Given the description of an element on the screen output the (x, y) to click on. 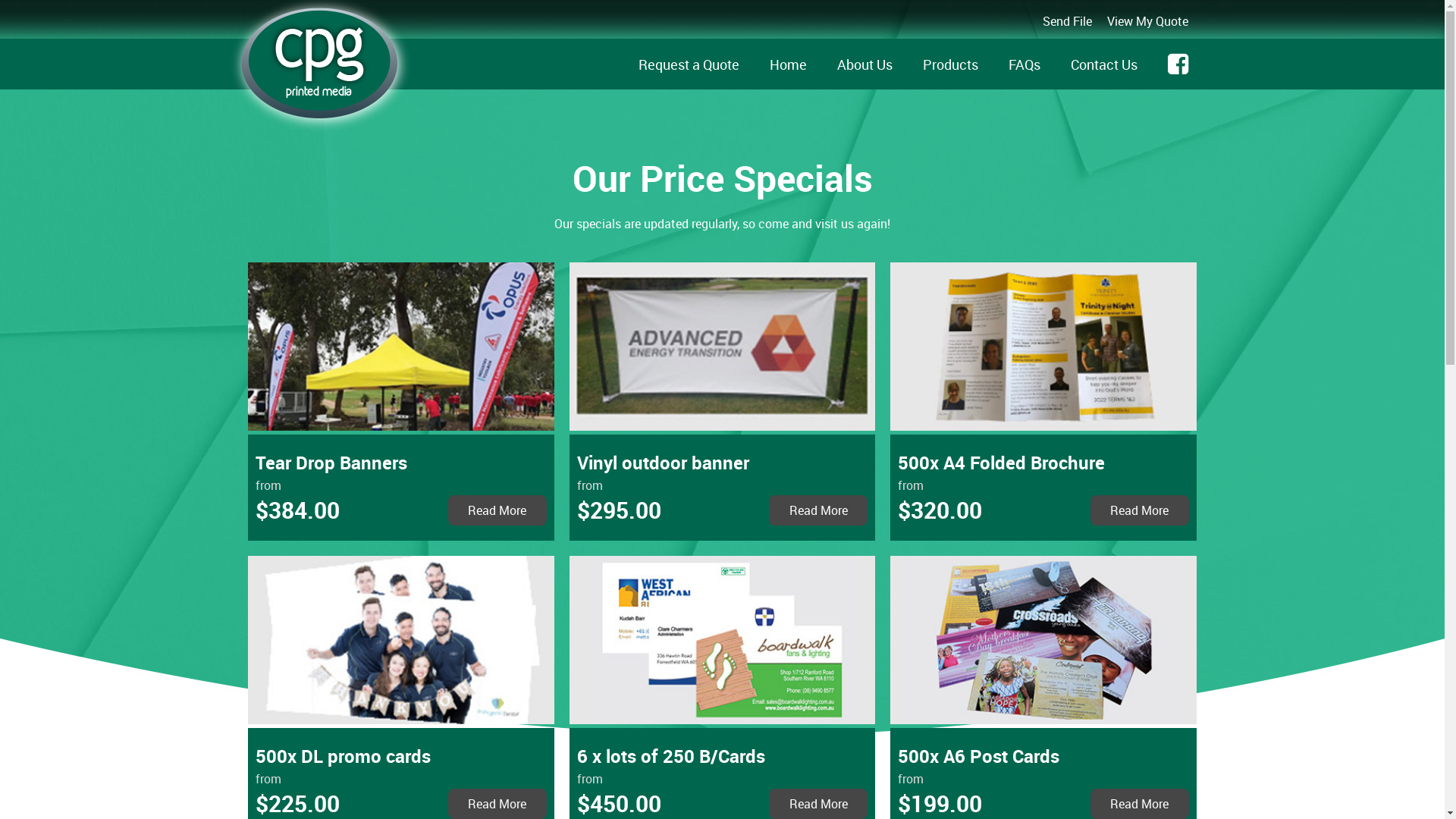
Send File Element type: text (1067, 20)
Home Element type: text (788, 63)
About Us Element type: text (864, 63)
Tear Drop Banners
from
$384.00
Read More Element type: text (400, 492)
Read More Element type: text (497, 510)
Vinyl outdoor banner
from
$295.00
Read More Element type: text (722, 492)
500x A4 Folded Brochure
from
$320.00
Read More Element type: text (1042, 492)
Contact Us Element type: text (1103, 63)
FAQs Element type: text (1024, 63)
Read More Element type: text (1139, 510)
View My Quote Element type: text (1147, 20)
Products Element type: text (950, 63)
Request a Quote Element type: text (688, 63)
Read More Element type: text (817, 510)
